Given the description of an element on the screen output the (x, y) to click on. 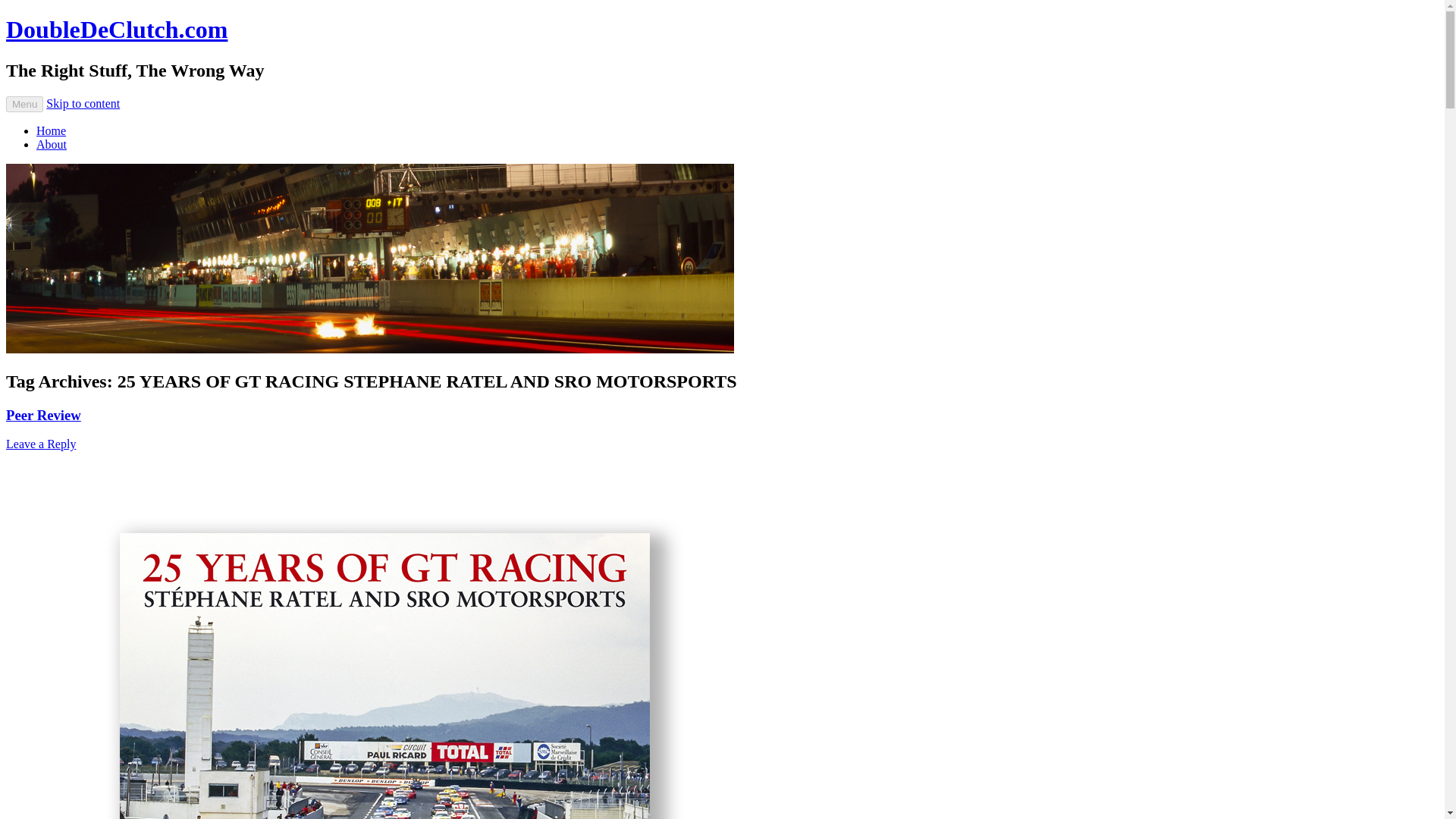
DoubleDeClutch.com (116, 29)
Peer Review (43, 415)
About (51, 144)
Skip to content (82, 103)
Menu (24, 104)
Leave a Reply (40, 443)
Home (50, 130)
